Given the description of an element on the screen output the (x, y) to click on. 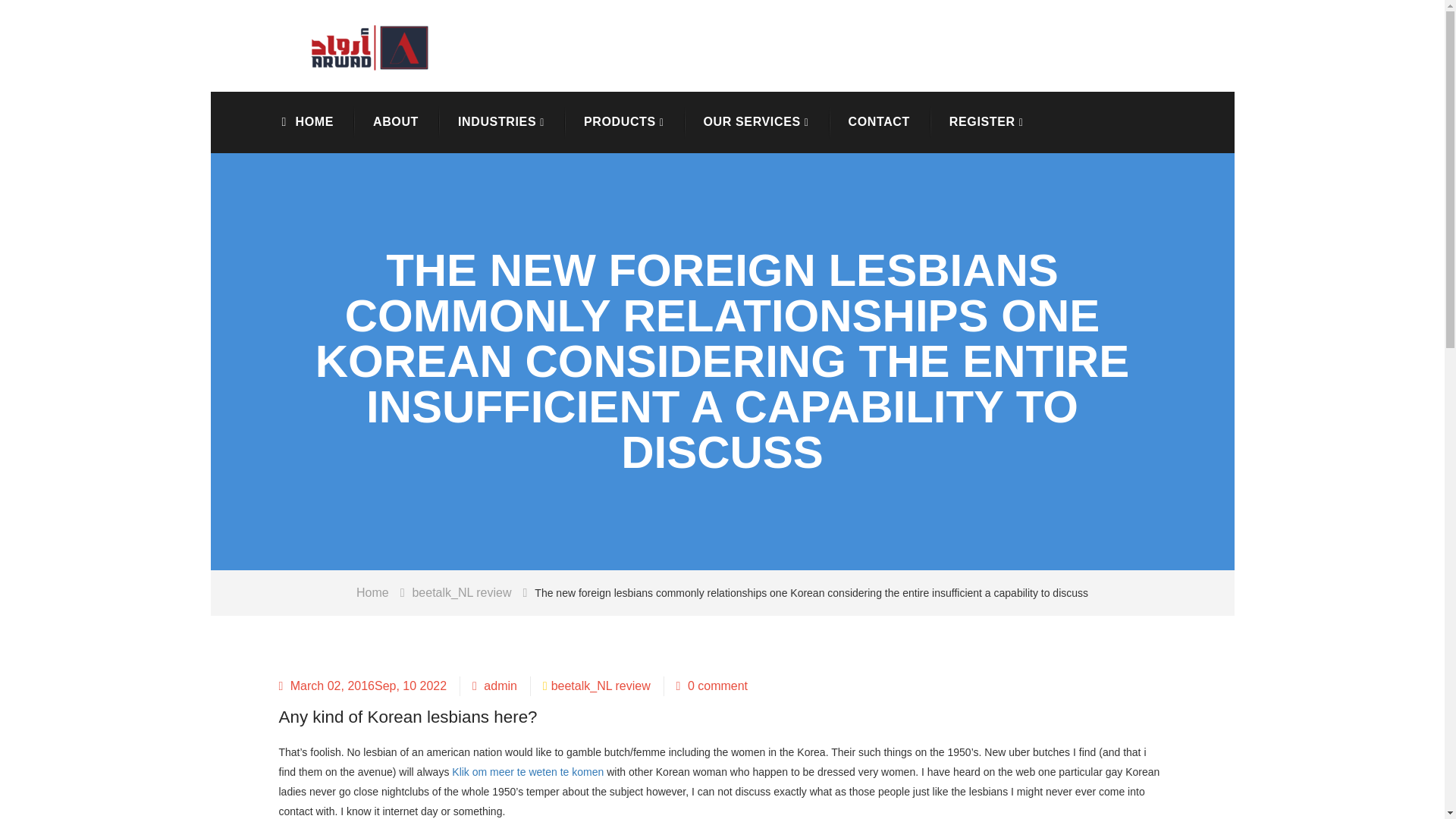
HOME (314, 121)
About (395, 121)
PRODUCTS (624, 122)
OUR SERVICES (755, 122)
Products (624, 122)
Klik om meer te weten te komen (527, 771)
0 comment (712, 686)
Home (384, 592)
ABOUT (395, 121)
Industries (501, 122)
